Given the description of an element on the screen output the (x, y) to click on. 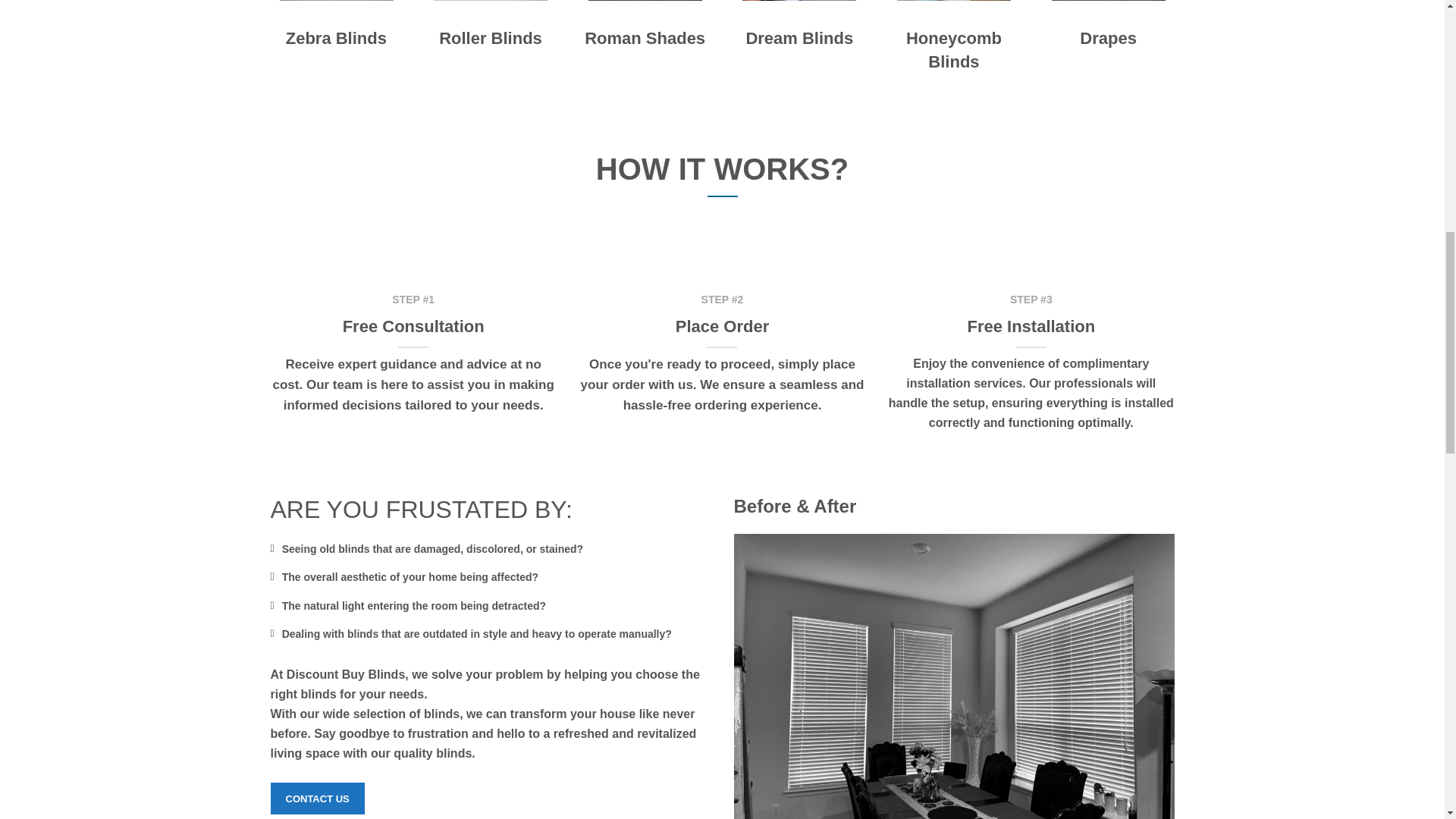
Before (953, 676)
CONTACT US (316, 798)
